Given the description of an element on the screen output the (x, y) to click on. 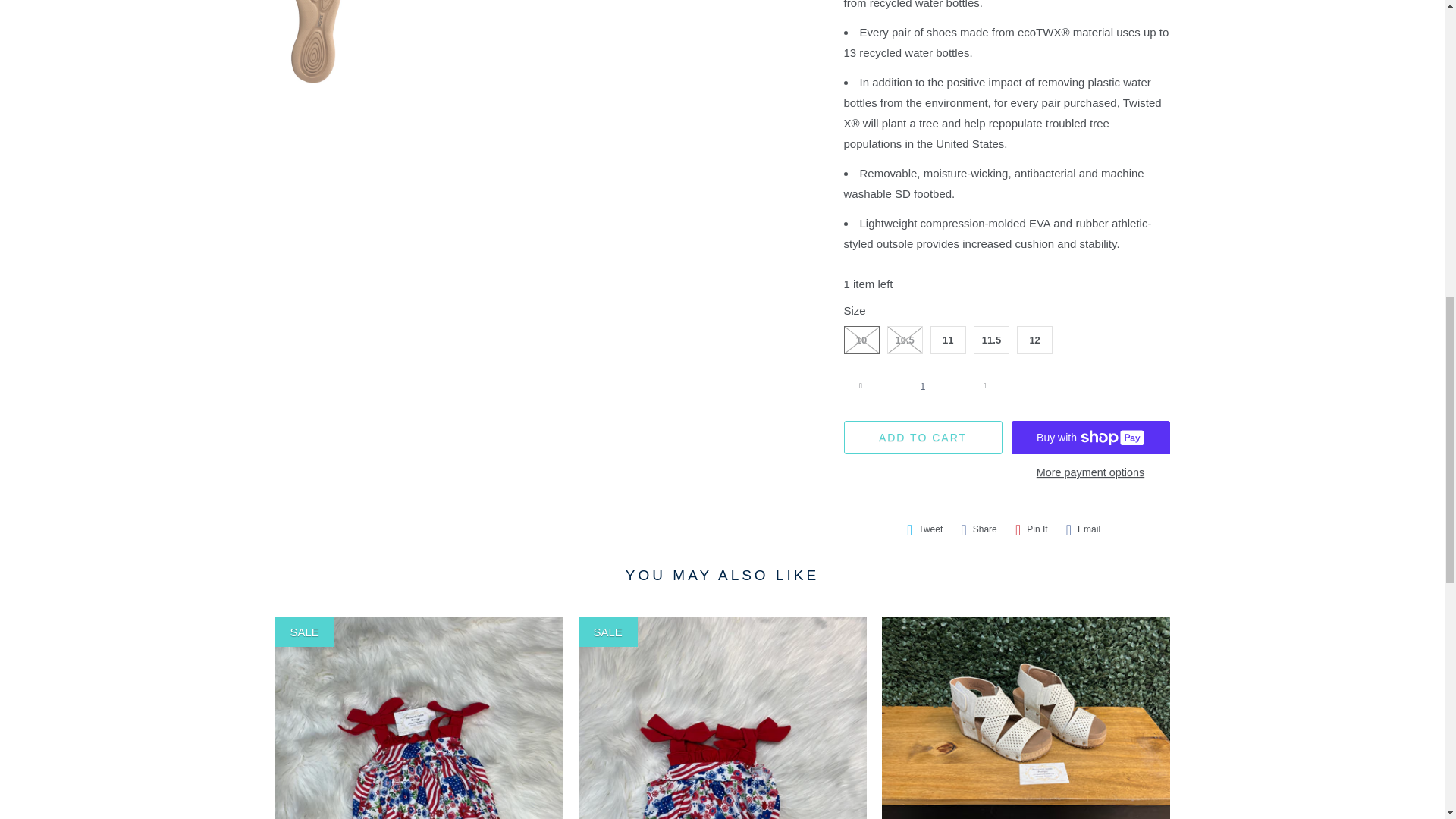
Share this on Pinterest (1031, 529)
Email this to a friend (1083, 529)
Share this on Facebook (978, 529)
Share this on Twitter (924, 529)
1 (922, 385)
